Given the description of an element on the screen output the (x, y) to click on. 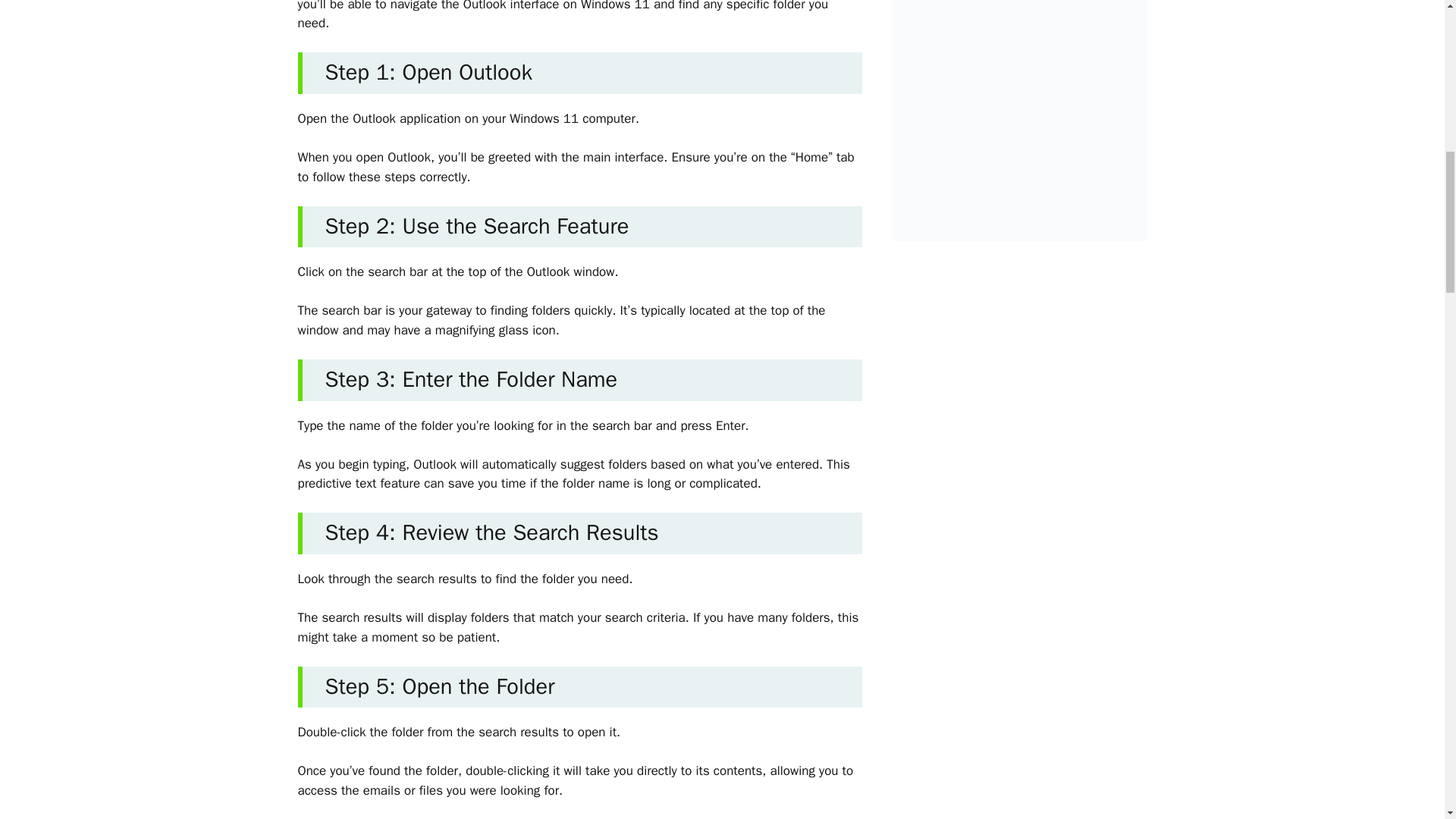
Advertisement (1030, 105)
